Given the description of an element on the screen output the (x, y) to click on. 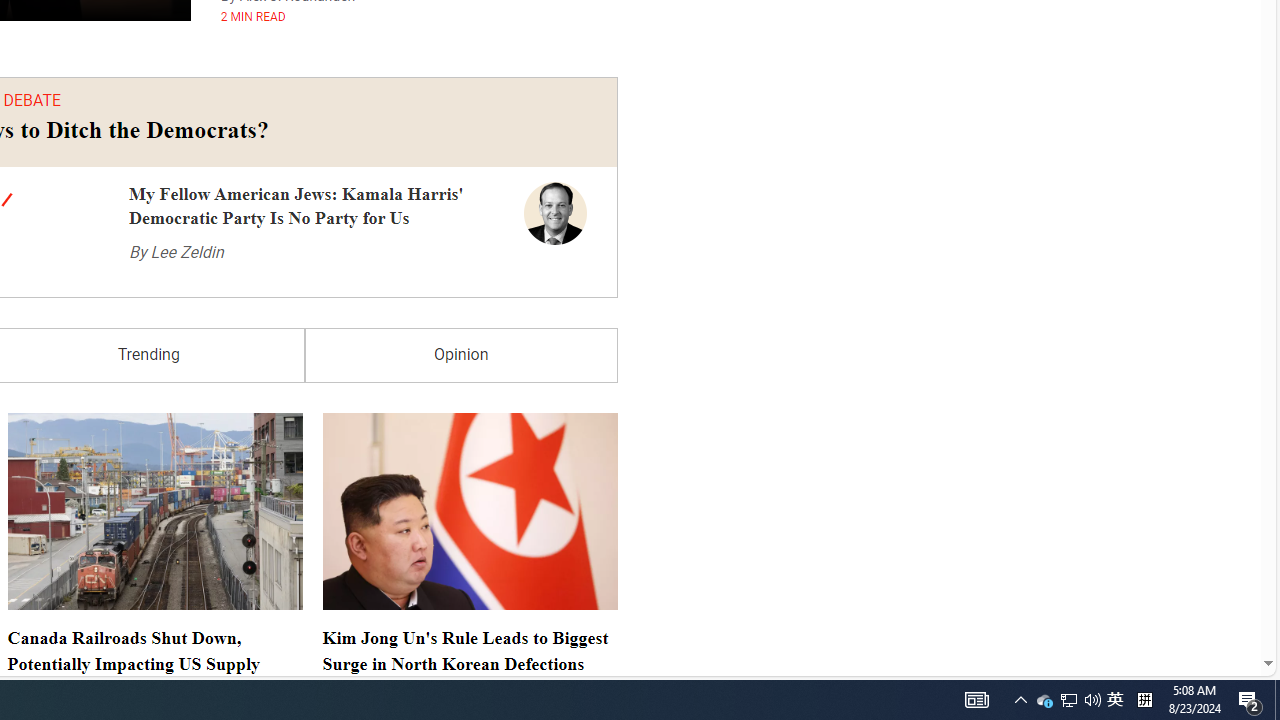
By Micah McCartney (386, 464)
Q2790: 100% (1092, 699)
Trump Reacts to Potential RFK Jr Endorsement (139, 622)
Action Center, 2 new notifications (1250, 699)
AutomationID: 4105 (1115, 699)
